Given the description of an element on the screen output the (x, y) to click on. 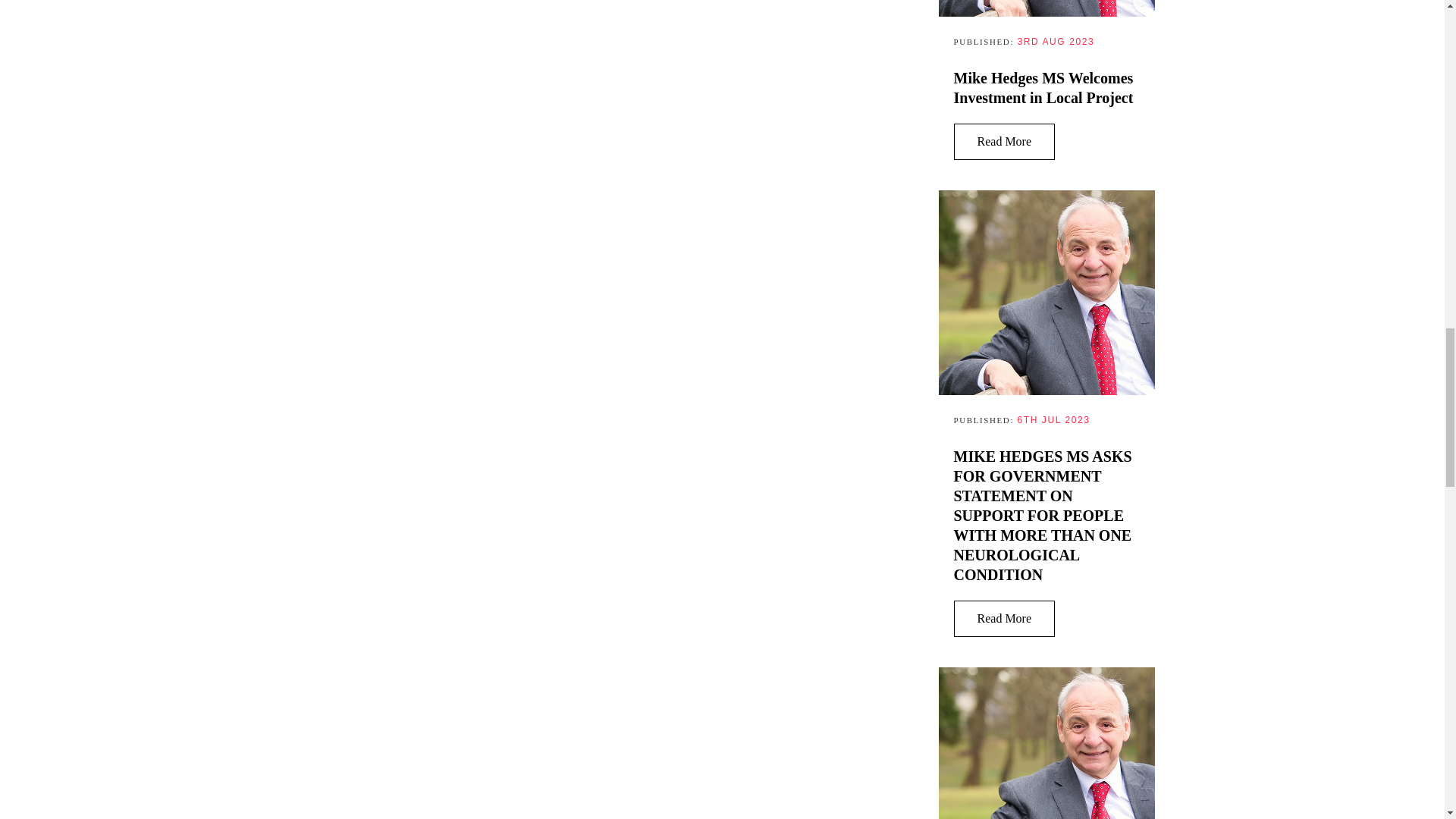
6TH JUL 2023 (1052, 419)
3RD AUG 2023 (1055, 41)
Read More (1004, 141)
Mike Hedges MS Welcomes Investment in Local Project (1044, 87)
